Given the description of an element on the screen output the (x, y) to click on. 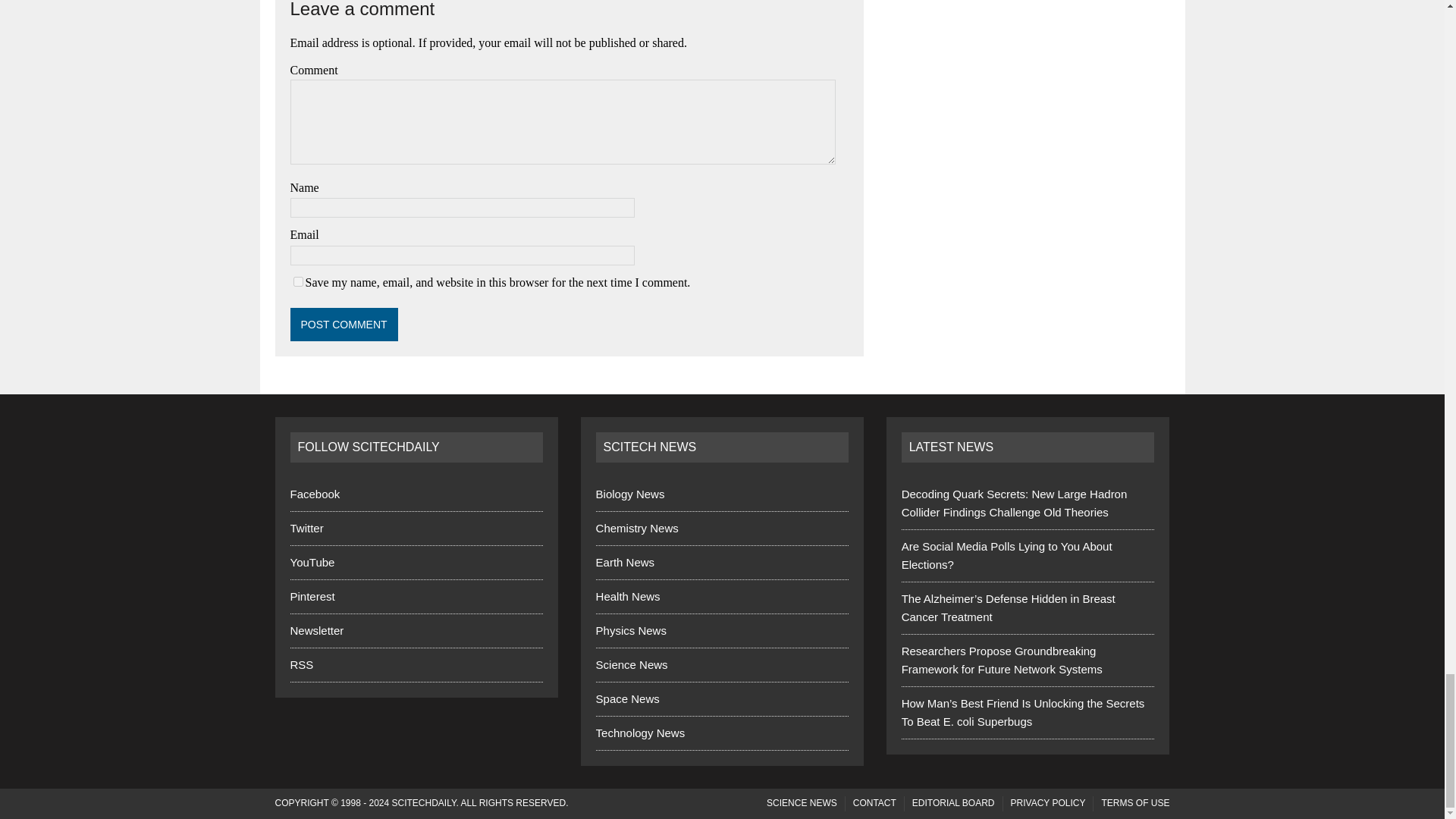
Post Comment (343, 324)
yes (297, 281)
